Given the description of an element on the screen output the (x, y) to click on. 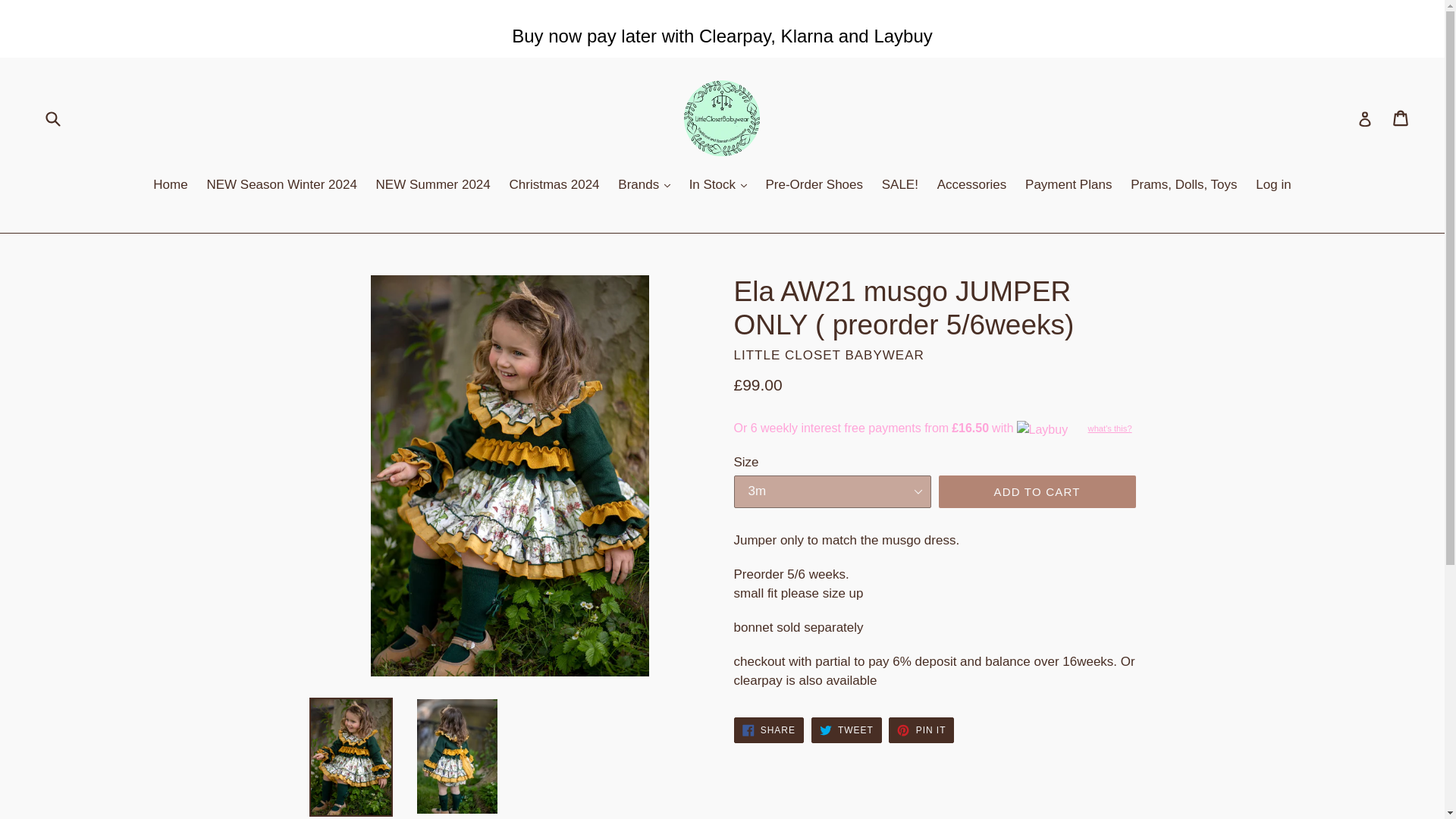
Pin on Pinterest (920, 729)
Share on Facebook (768, 729)
Tweet on Twitter (846, 729)
